Given the description of an element on the screen output the (x, y) to click on. 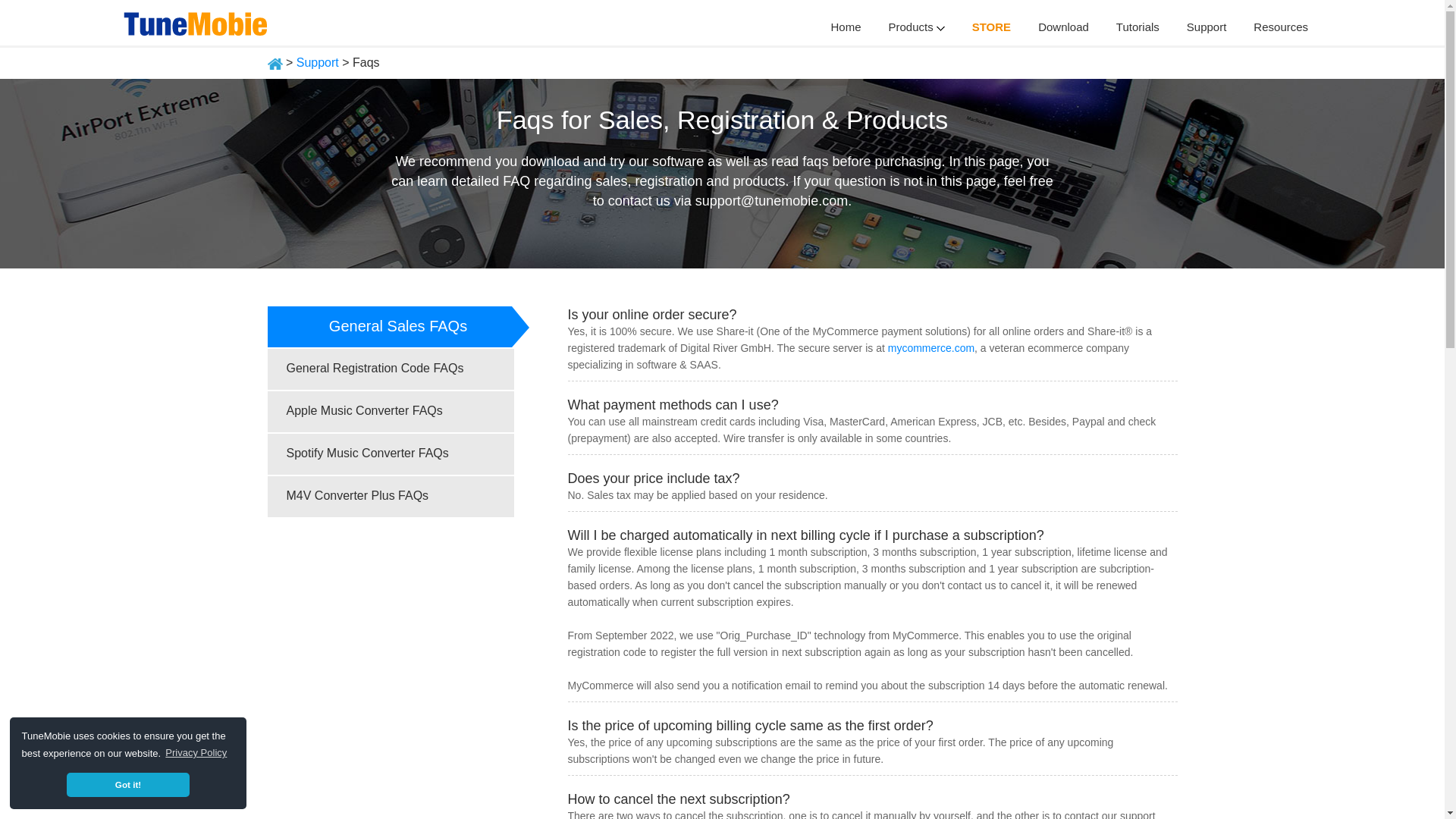
Products (916, 26)
TuneMobie (197, 22)
Resources (1280, 26)
mycommerce.com (931, 347)
Home (846, 26)
Tutorials (1137, 26)
Support (1206, 26)
Privacy Policy (195, 752)
Download (1063, 26)
Support (318, 62)
